Given the description of an element on the screen output the (x, y) to click on. 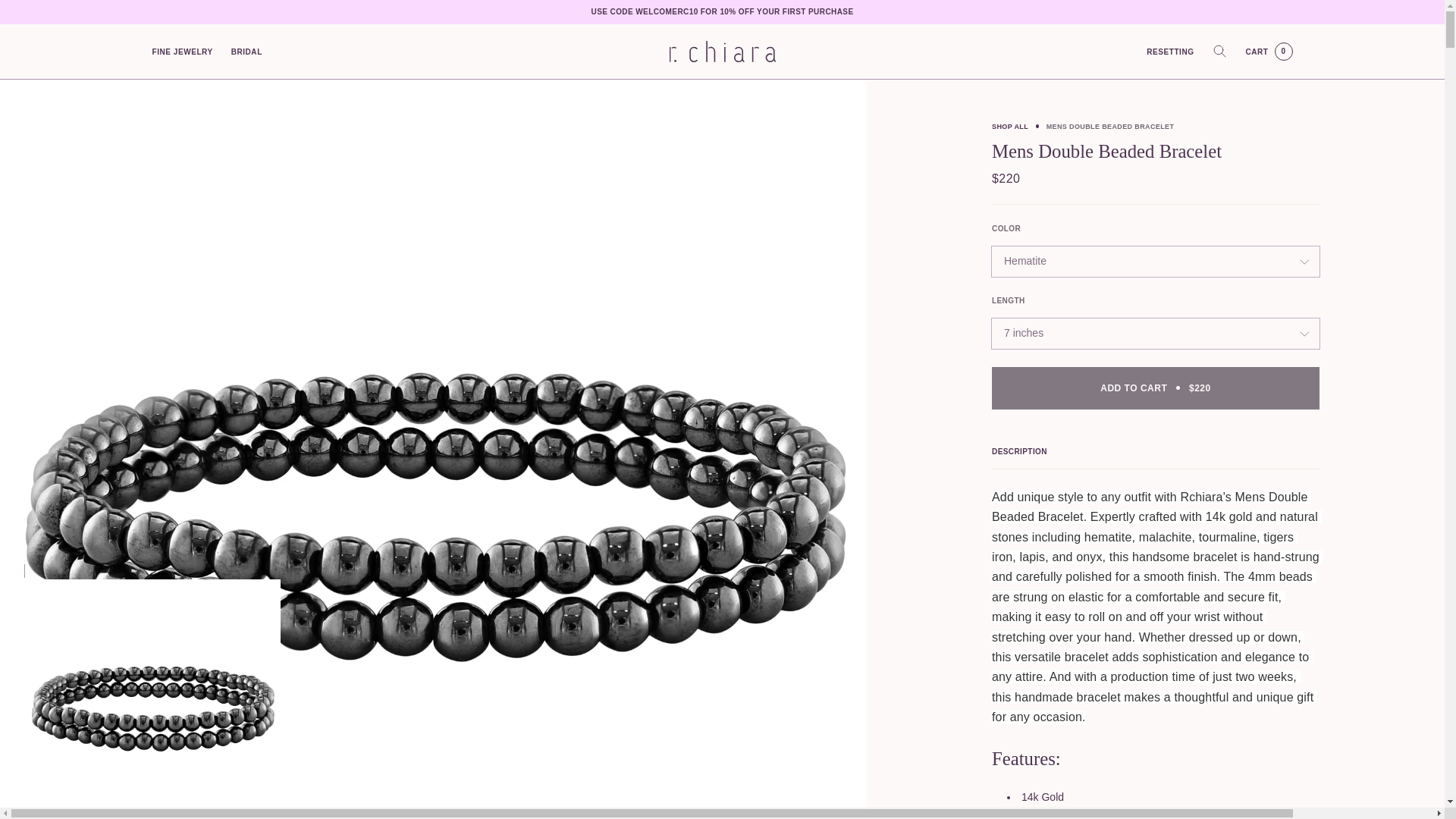
Search the store (1219, 51)
MENS DOUBLE BEADED BRACELET (1110, 126)
BRIDAL (246, 51)
SHOP ALL (1009, 126)
FINE JEWELRY (181, 51)
RESETTING (1268, 51)
SKIP TO CONTENT (1169, 51)
Go to the home page (45, 18)
